Given the description of an element on the screen output the (x, y) to click on. 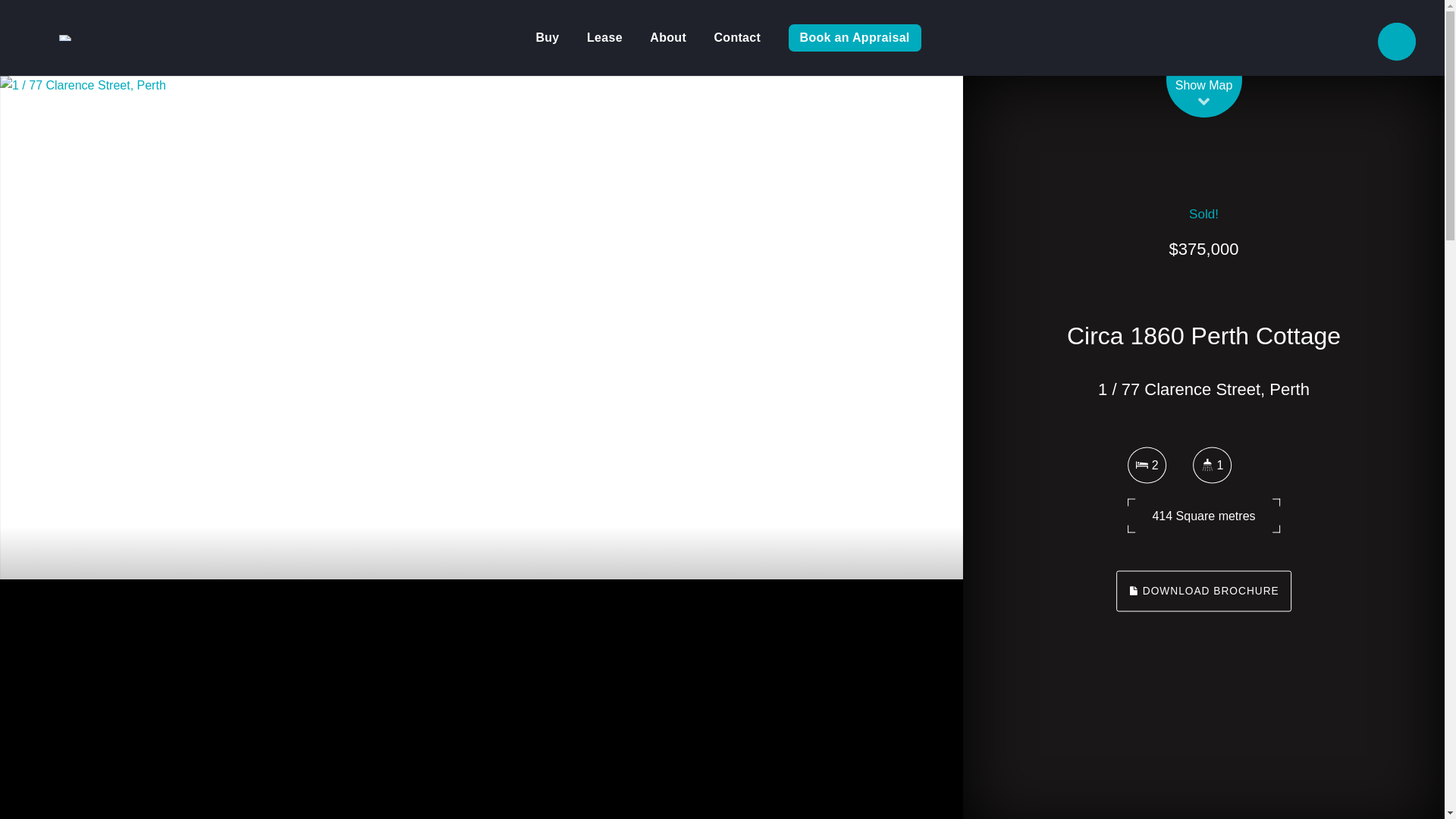
Book an Appraisal Element type: text (854, 37)
Show Map Element type: text (1204, 94)
Buy Element type: text (546, 37)
About Element type: text (667, 37)
Contact Element type: text (736, 37)
1 / 77 Clarence Street, Perth Element type: hover (379, 326)
DOWNLOAD BROCHURE Element type: text (1203, 591)
Lease Element type: text (604, 37)
